Given the description of an element on the screen output the (x, y) to click on. 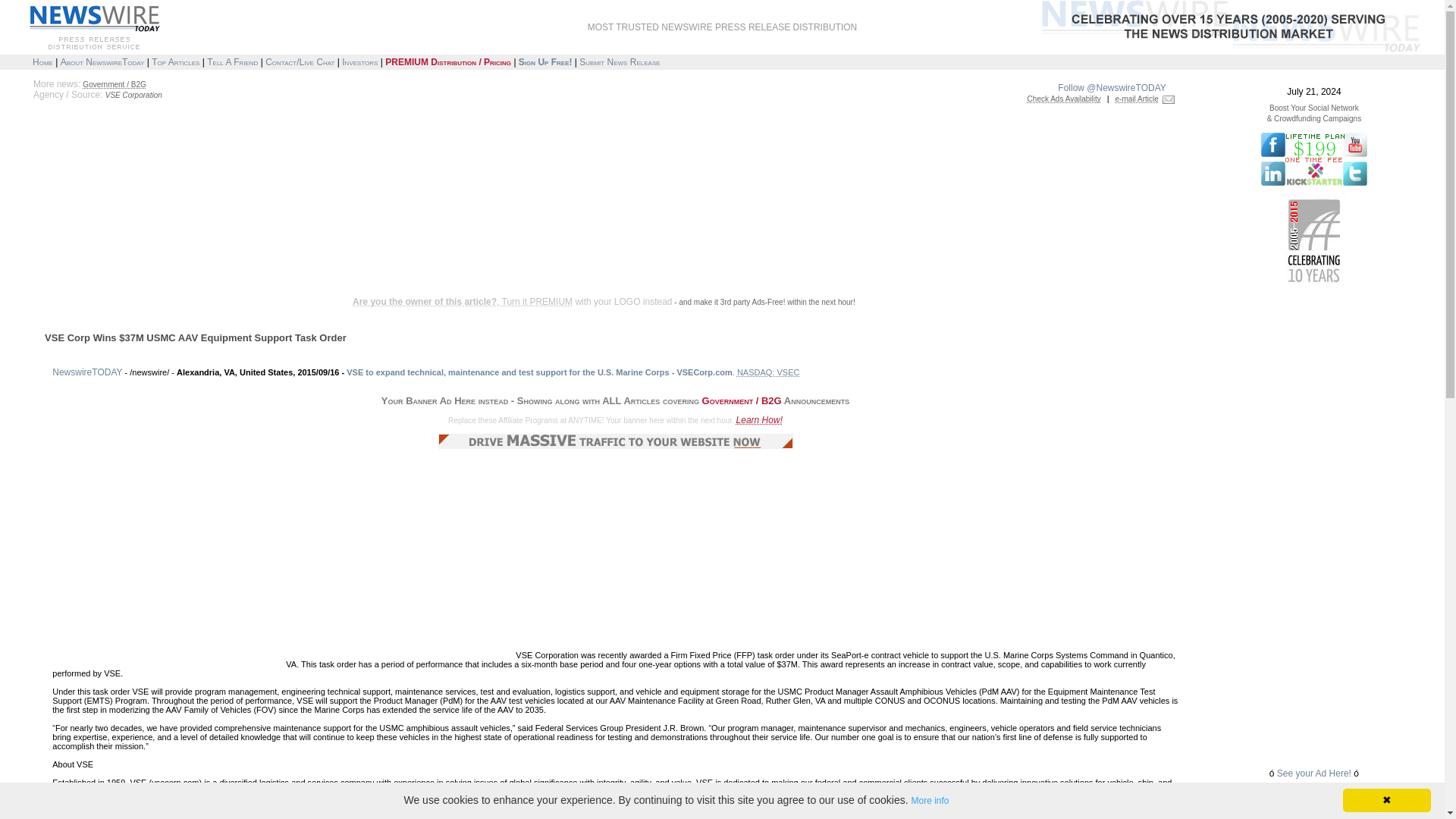
Sign Up FREE! (545, 61)
Learn How! (759, 419)
Tell a friend about NewswireToday (231, 61)
Check Ads Availability (1063, 98)
About NewswireToday (102, 61)
Tell A Friend (231, 61)
Advertisement (300, 246)
Investors (359, 61)
Top Articles (175, 61)
About NewswireToday (102, 61)
Home (42, 61)
Contact NewswireToday (299, 61)
Submit News Release (619, 61)
NewswireTODAY (87, 371)
NewswireToday Top Releases Article Press Release (175, 61)
